Given the description of an element on the screen output the (x, y) to click on. 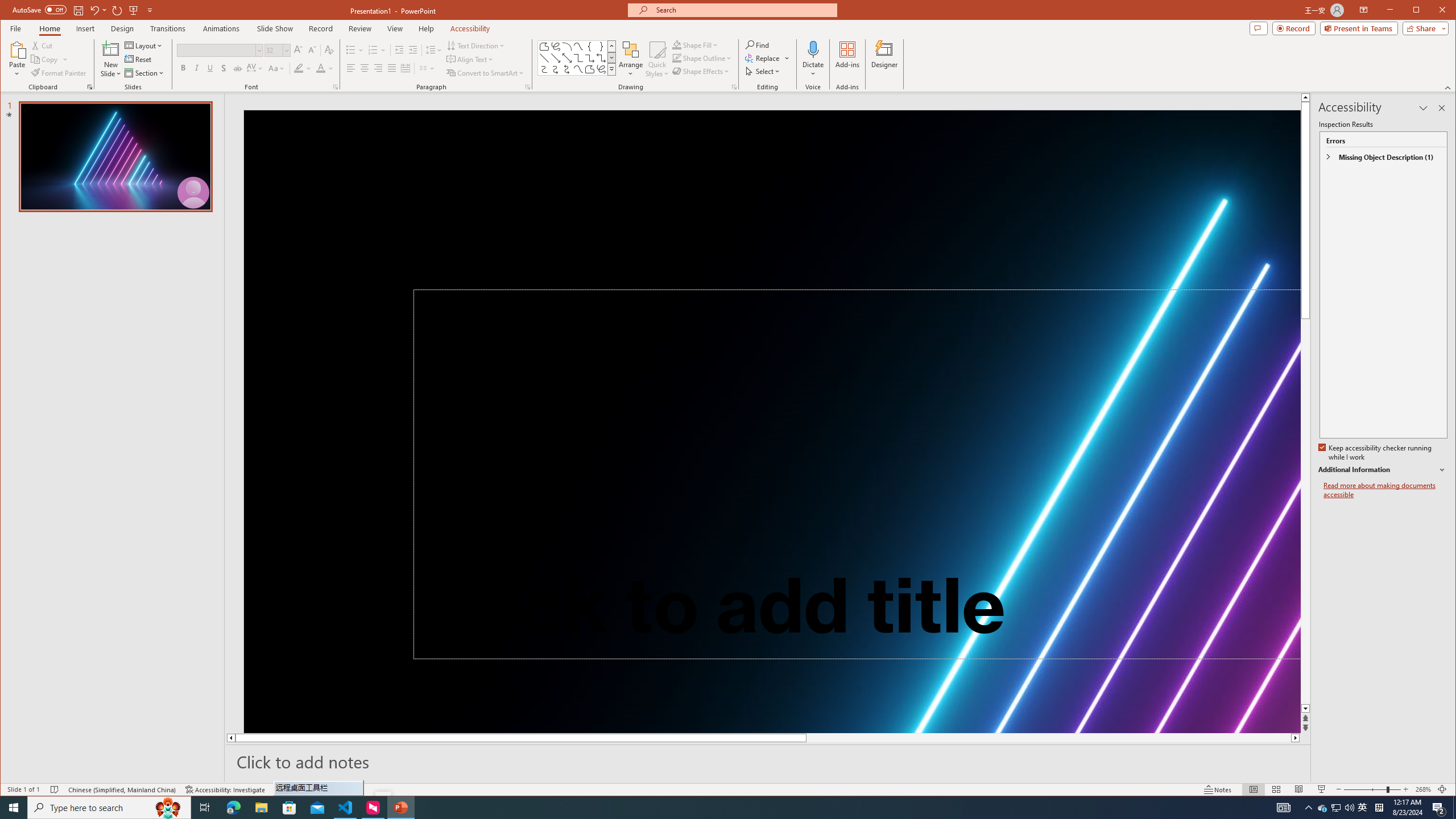
Neon laser lights aligned to form a triangle (772, 421)
